Given the description of an element on the screen output the (x, y) to click on. 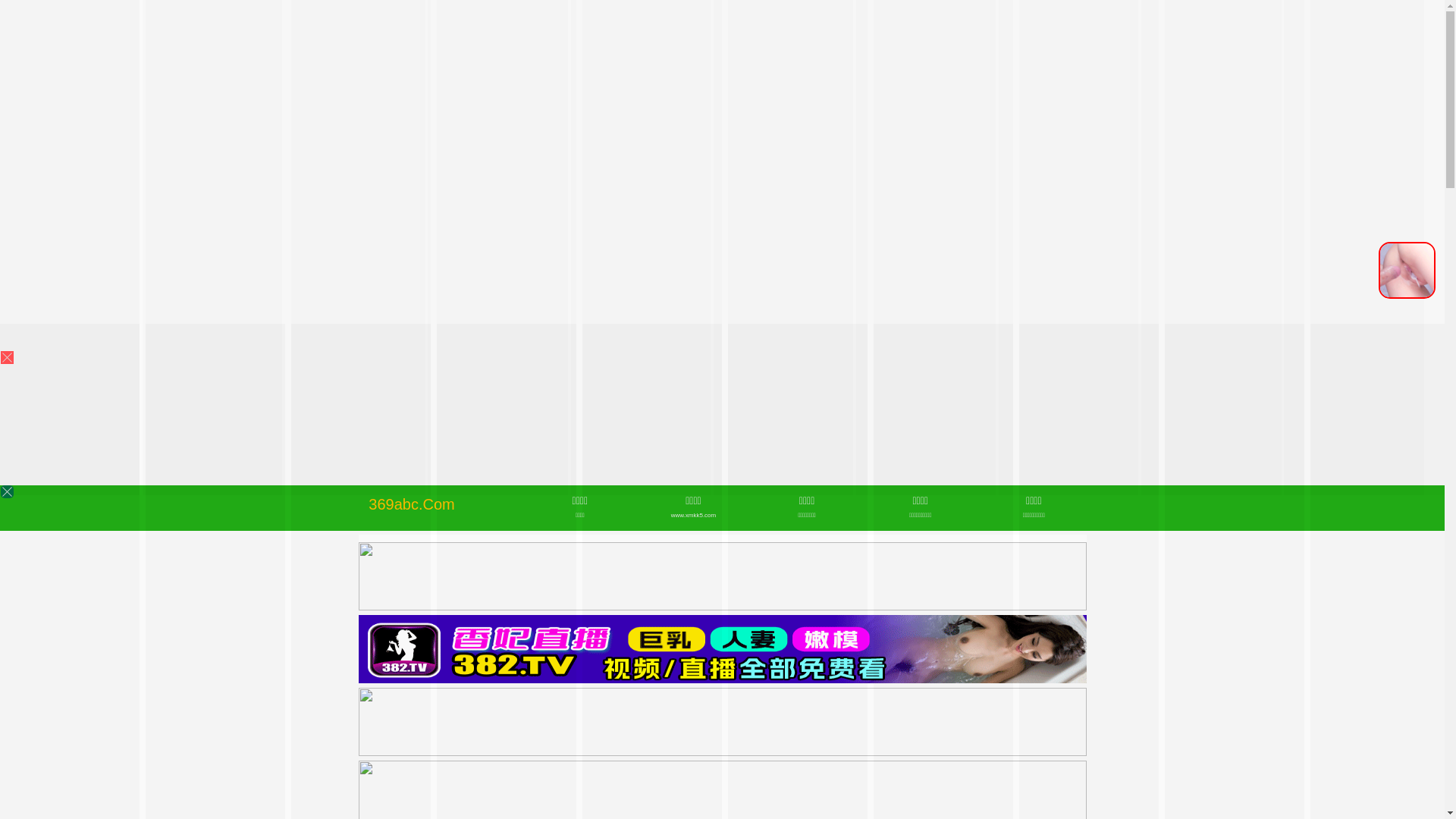
www.xmkk5.com Element type: text (693, 515)
369abc.Com Element type: text (411, 503)
